Given the description of an element on the screen output the (x, y) to click on. 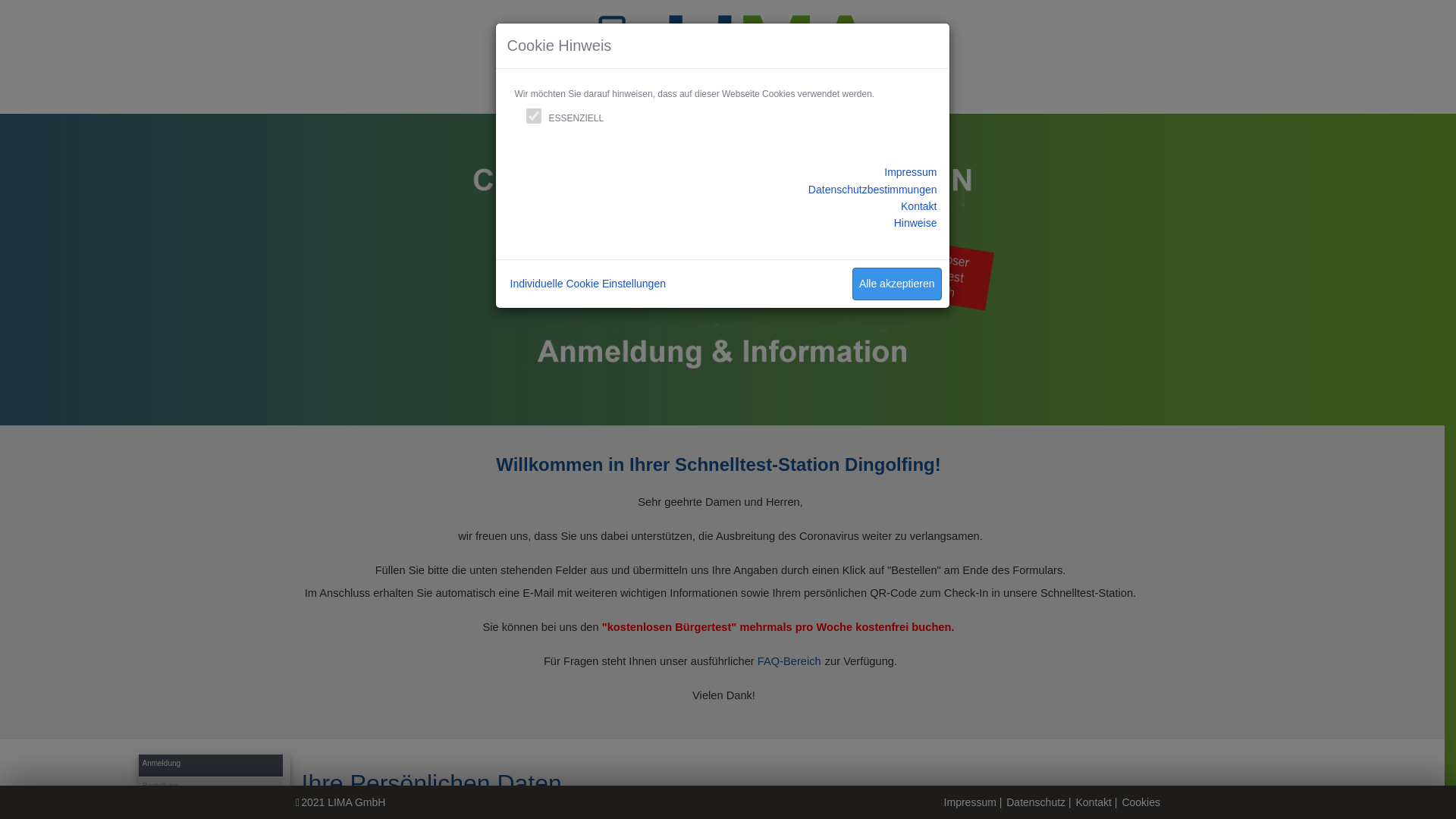
Kontakt Element type: text (1092, 802)
Datenschutzbestimmungen Element type: text (872, 189)
Cookies Element type: text (1140, 802)
2021 LIMA GmbH Element type: text (343, 802)
Hinweise Element type: text (915, 222)
Impressum Element type: text (910, 171)
Impressum Element type: text (970, 802)
Kontakt Element type: text (918, 205)
Datenschutz Element type: text (1035, 802)
FAQ-Bereich Element type: text (789, 661)
